Given the description of an element on the screen output the (x, y) to click on. 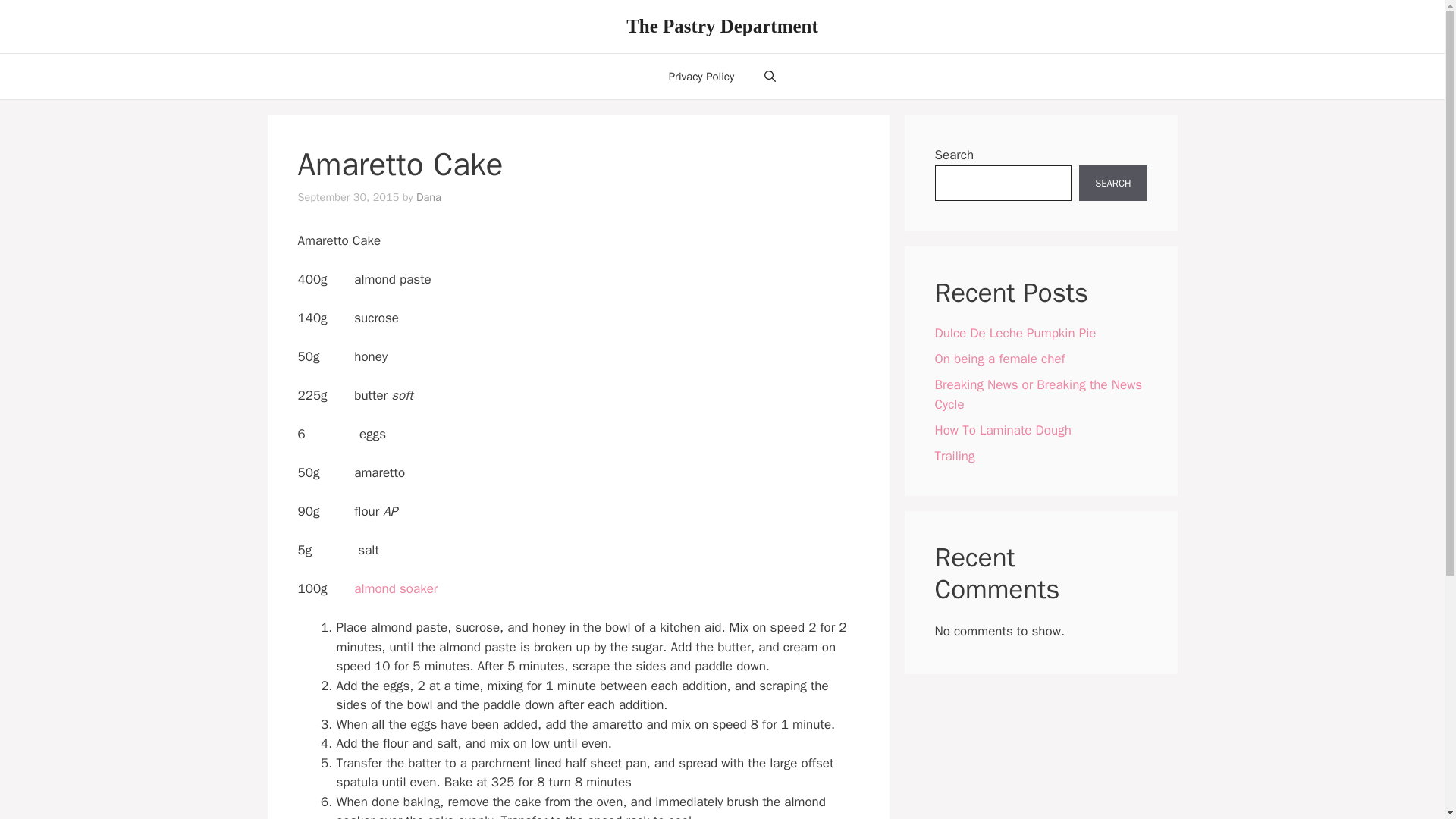
The Pastry Department (722, 25)
Dulce De Leche Pumpkin Pie (1015, 333)
How To Laminate Dough (1002, 429)
Privacy Policy (701, 76)
View all posts by Dana (428, 196)
Breaking News or Breaking the News Cycle (1037, 394)
Dana (428, 196)
Trailing (954, 455)
almond soaker (395, 588)
SEARCH (1112, 183)
On being a female chef (999, 358)
